Given the description of an element on the screen output the (x, y) to click on. 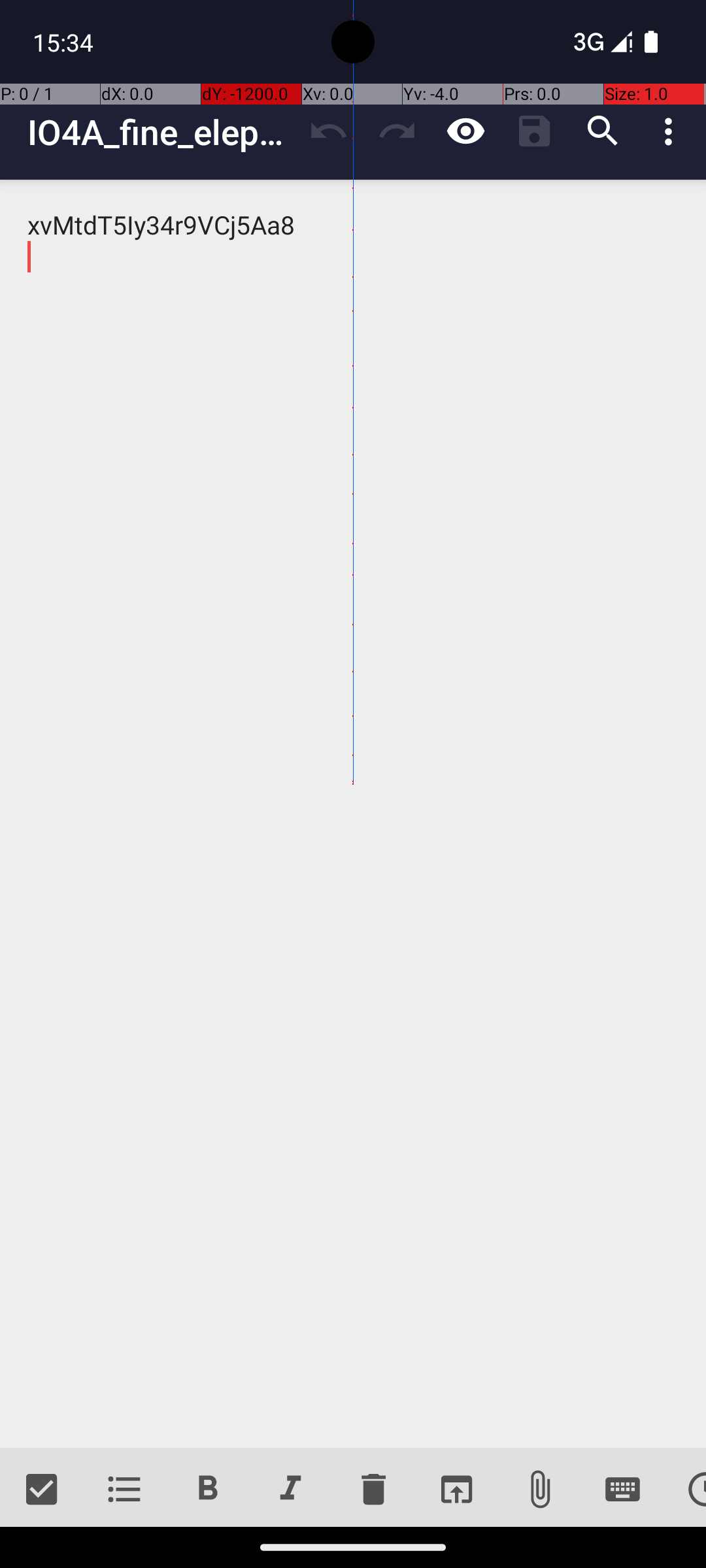
IO4A_fine_elephant Element type: android.widget.TextView (160, 131)
xvMtdT5Iy34r9VCj5Aa8
 Element type: android.widget.EditText (353, 813)
